Given the description of an element on the screen output the (x, y) to click on. 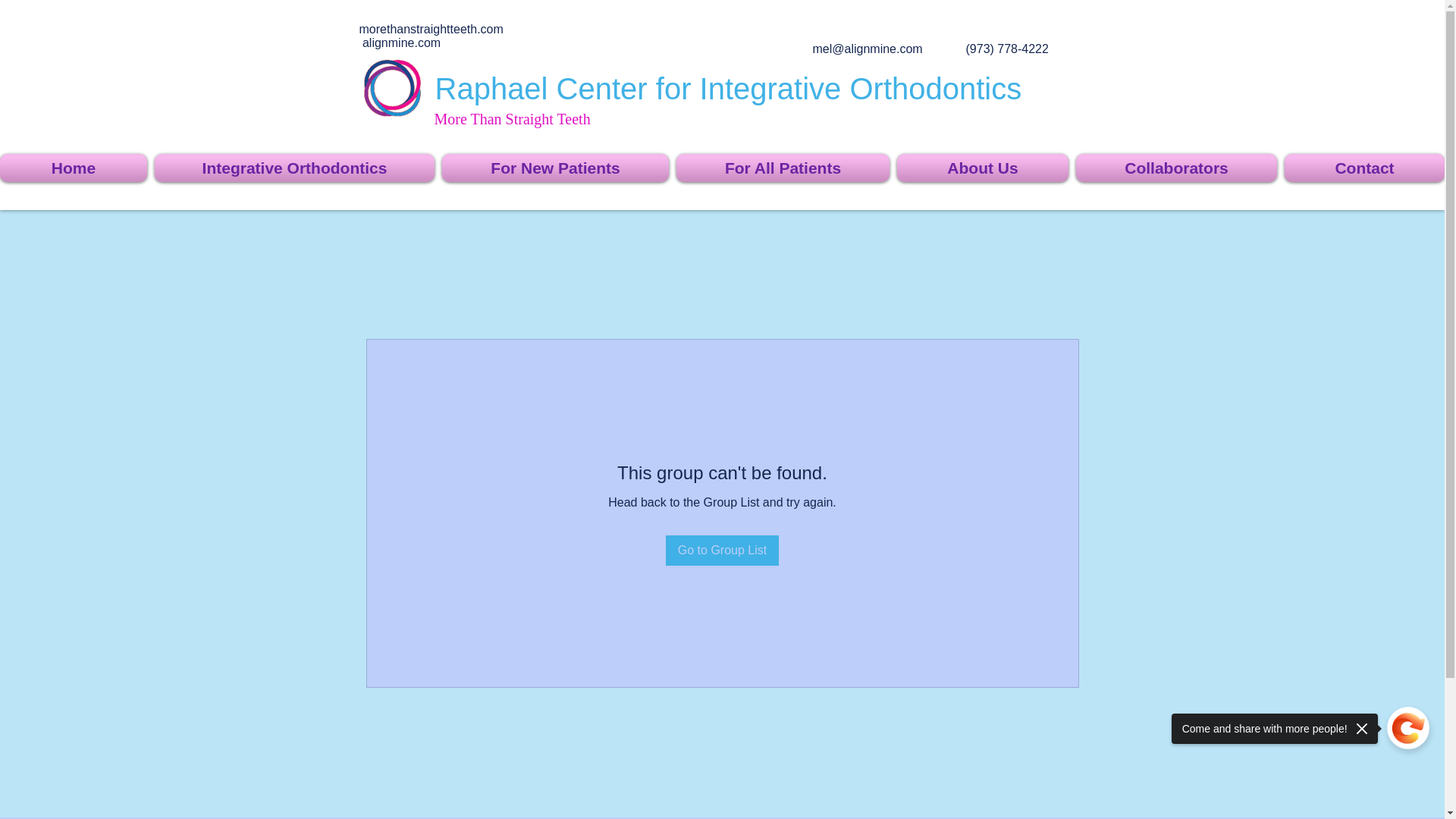
Go to Group List (721, 550)
Home (75, 167)
About Us (982, 167)
